Given the description of an element on the screen output the (x, y) to click on. 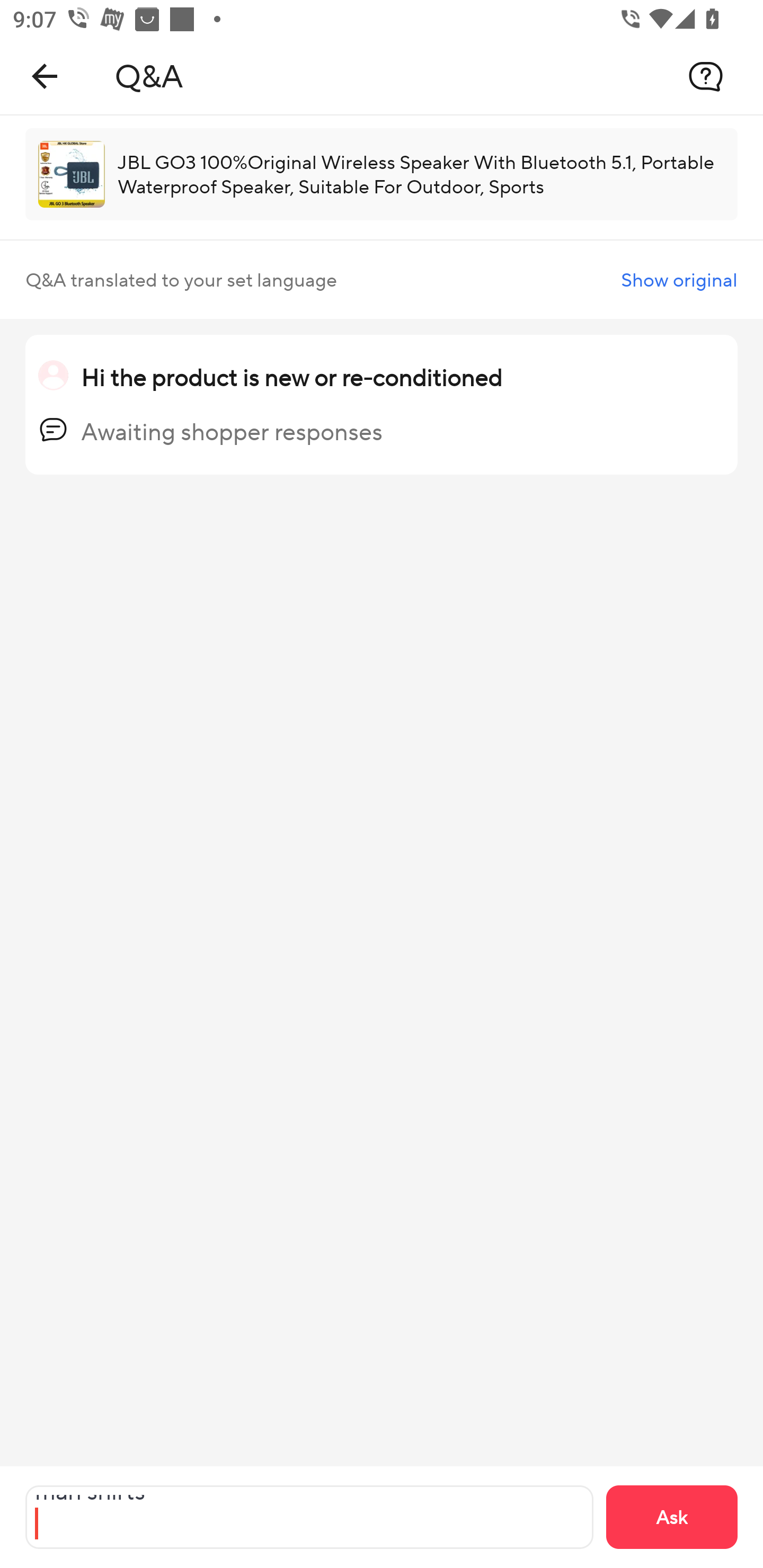
Navigate up (44, 75)
Show original (679, 279)
Hi the product is new or re-conditioned (291, 377)
Awaiting shopper responses (231, 430)
man shirts
 (309, 1516)
Ask (671, 1516)
